Given the description of an element on the screen output the (x, y) to click on. 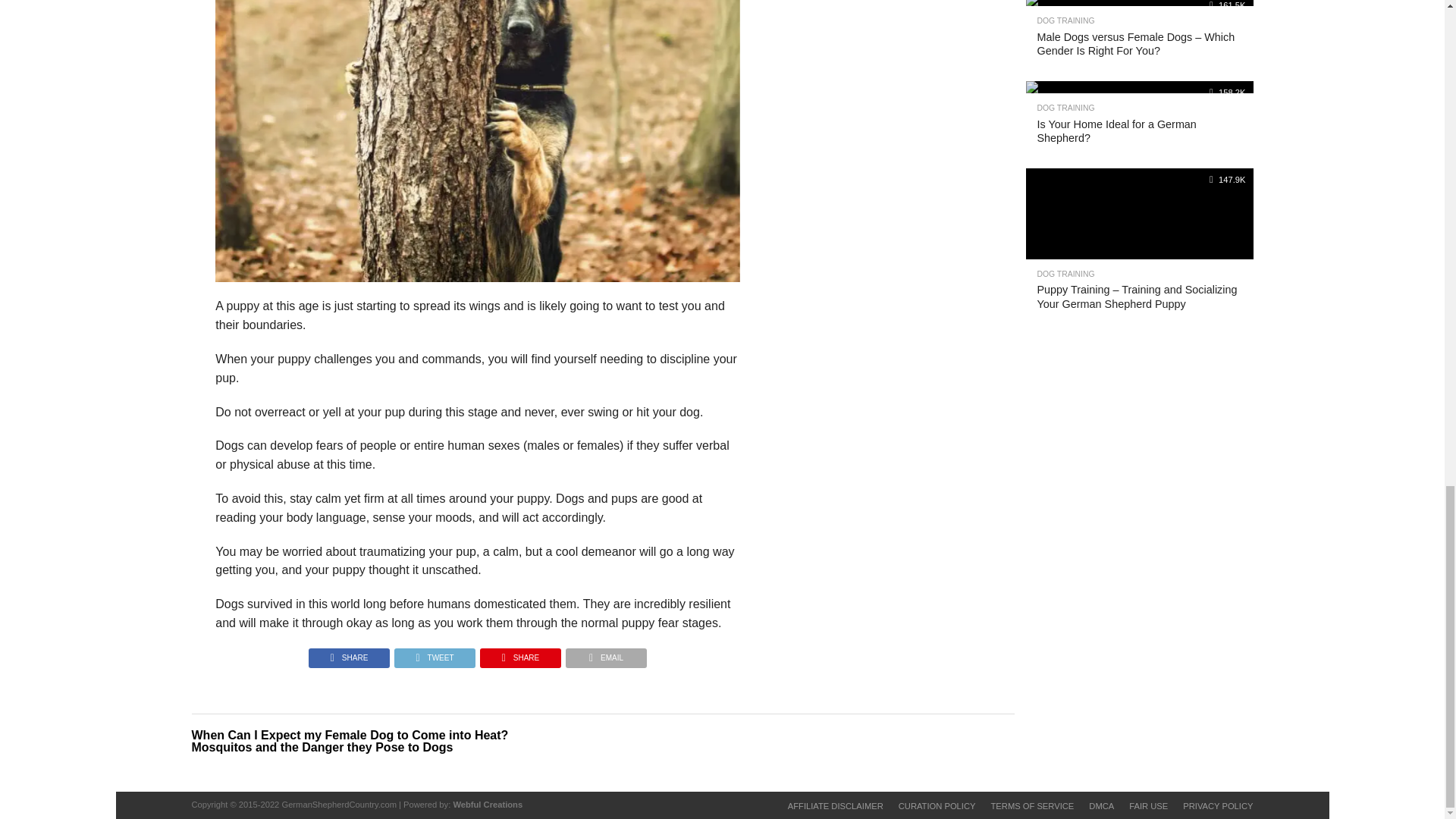
Share on Facebook (349, 653)
Pin This Post (520, 653)
EMAIL (605, 653)
Tweet This Post (434, 653)
TWEET (434, 653)
SHARE (520, 653)
SHARE (349, 653)
